Given the description of an element on the screen output the (x, y) to click on. 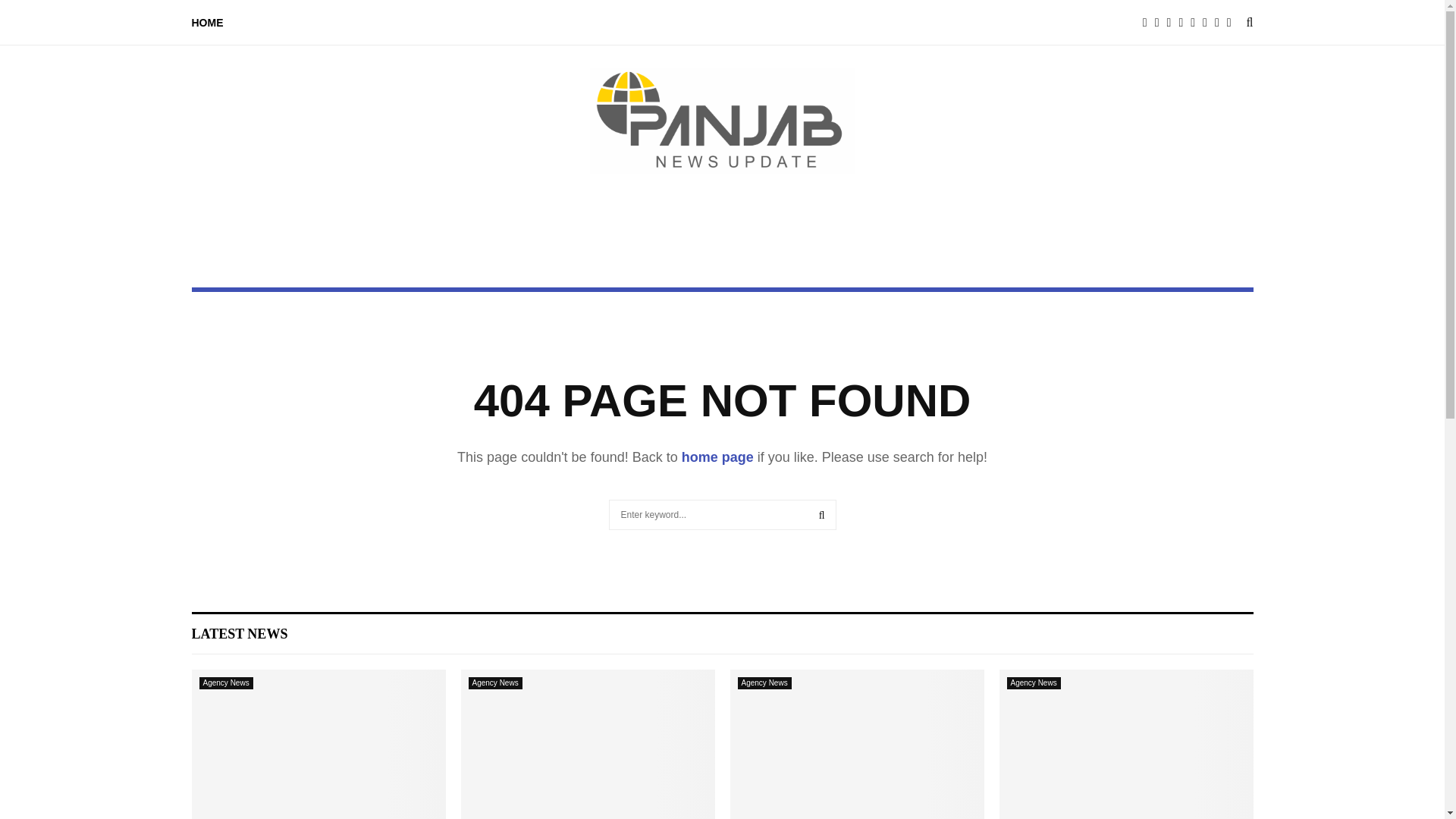
Latest News (238, 633)
Agency News (224, 683)
Agency News (763, 683)
SEARCH (821, 514)
View all posts in Agency News (763, 683)
View all posts in Agency News (495, 683)
View all posts in Agency News (224, 683)
Agency News (1034, 683)
LATEST NEWS (238, 633)
home page (717, 457)
Agency News (495, 683)
